Given the description of an element on the screen output the (x, y) to click on. 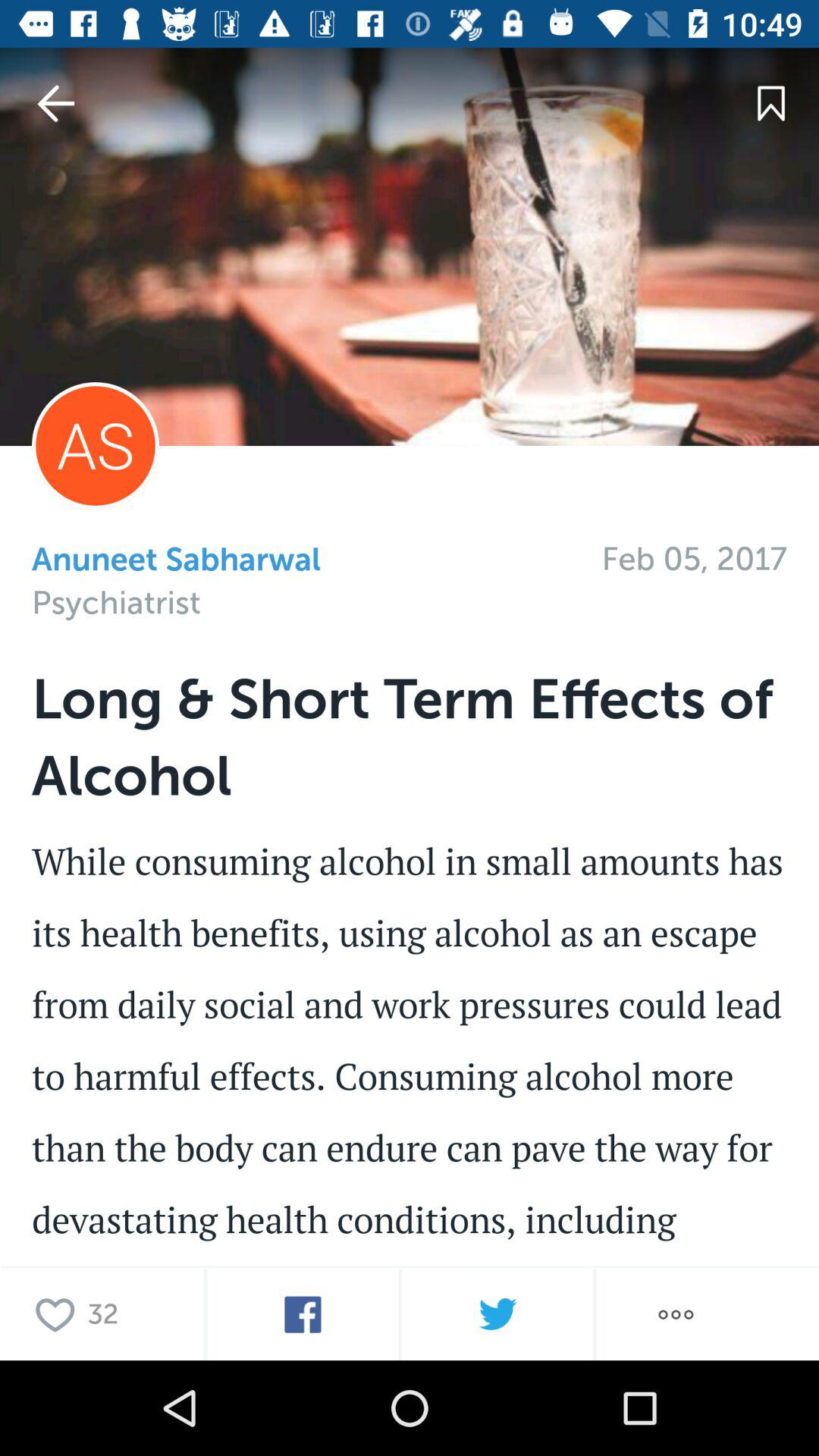
like this article (59, 1314)
